Given the description of an element on the screen output the (x, y) to click on. 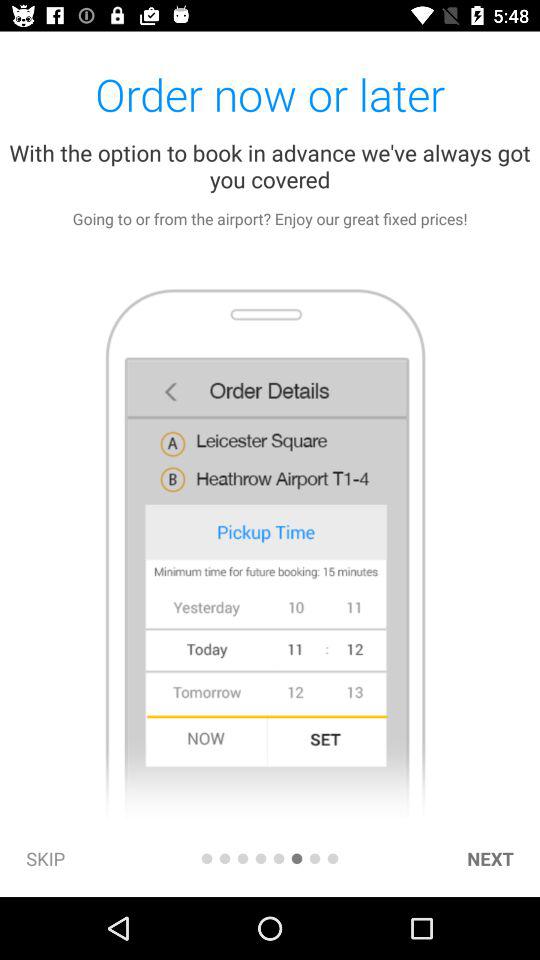
flip until the skip icon (45, 858)
